Given the description of an element on the screen output the (x, y) to click on. 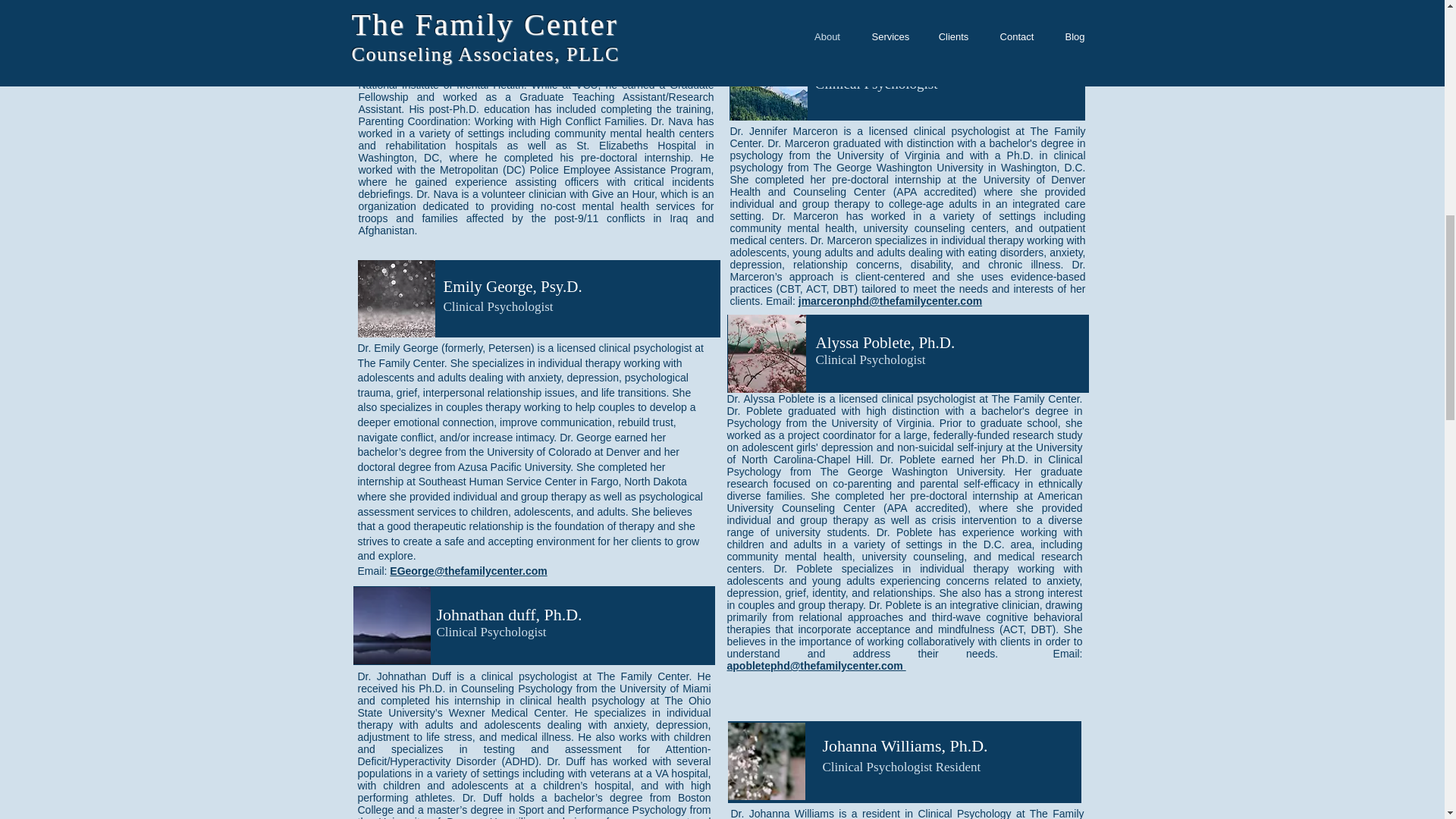
Starry Sky (391, 625)
Rain (396, 298)
